Given the description of an element on the screen output the (x, y) to click on. 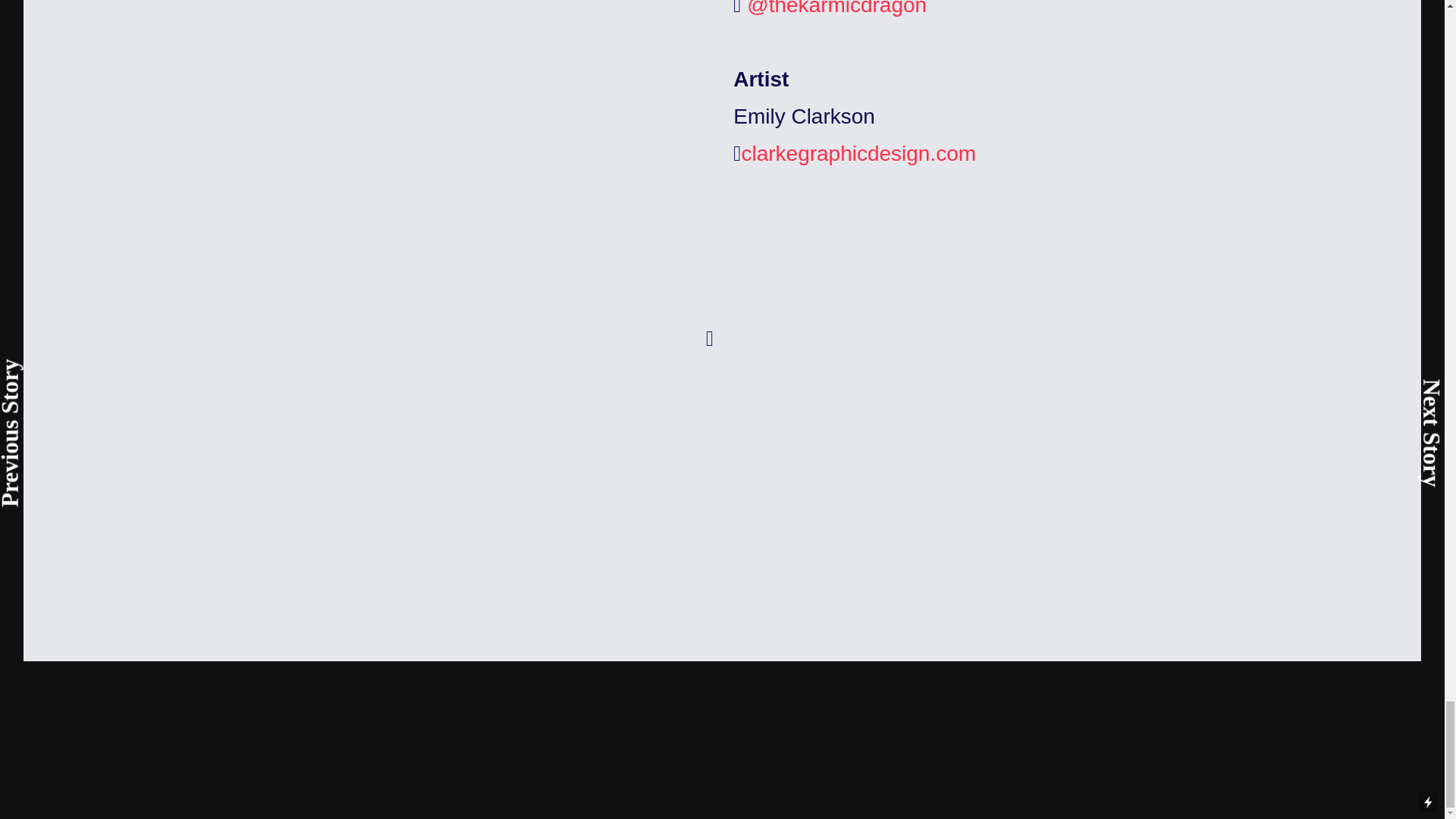
clarkegraphicdesign.com (858, 153)
